Given the description of an element on the screen output the (x, y) to click on. 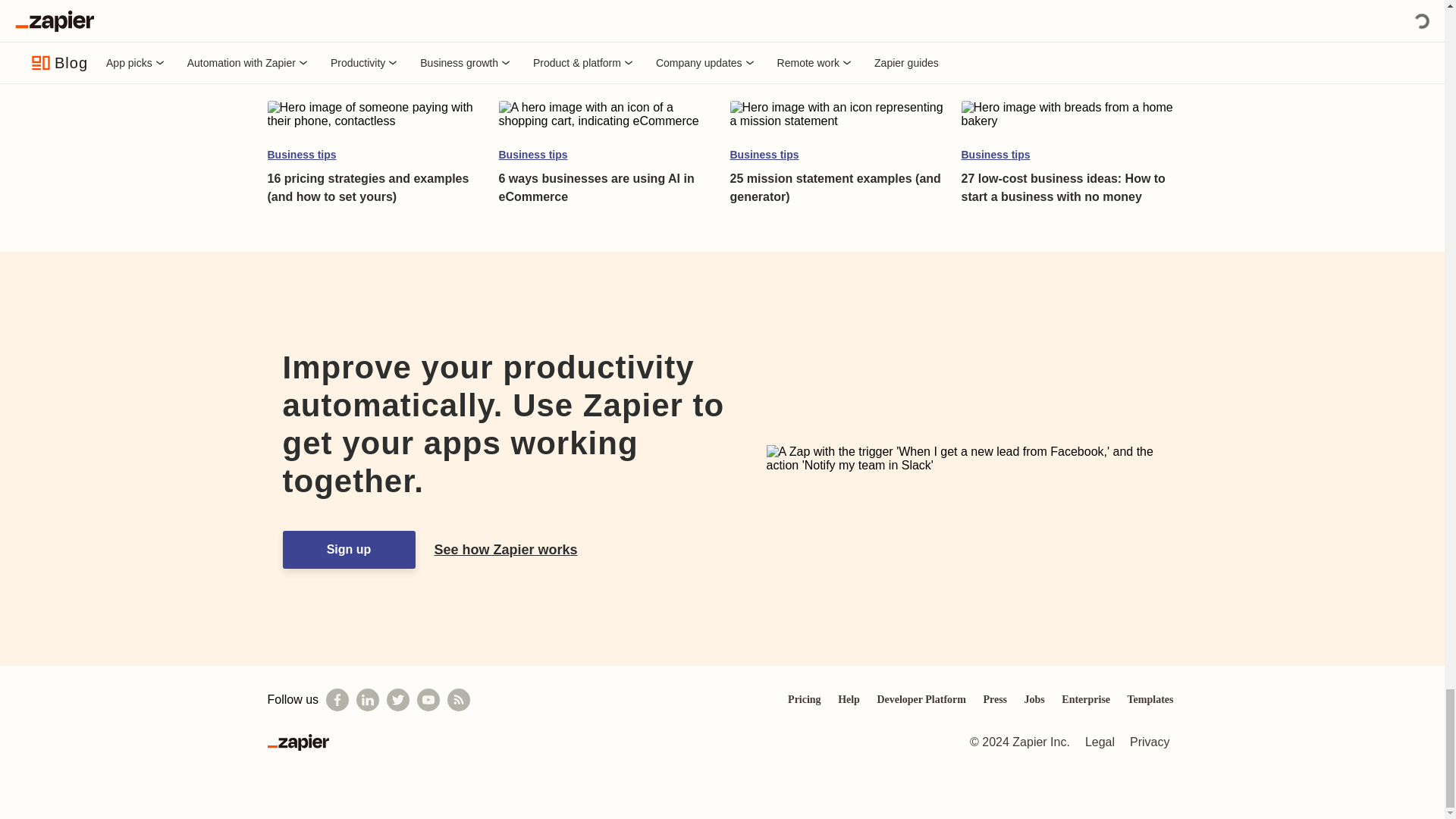
Follow us on Facebook (337, 699)
See helpful Zapier videos on Youtube (427, 699)
Follow us on LinkedIn (367, 699)
Subscribe to our blog (458, 699)
